Given the description of an element on the screen output the (x, y) to click on. 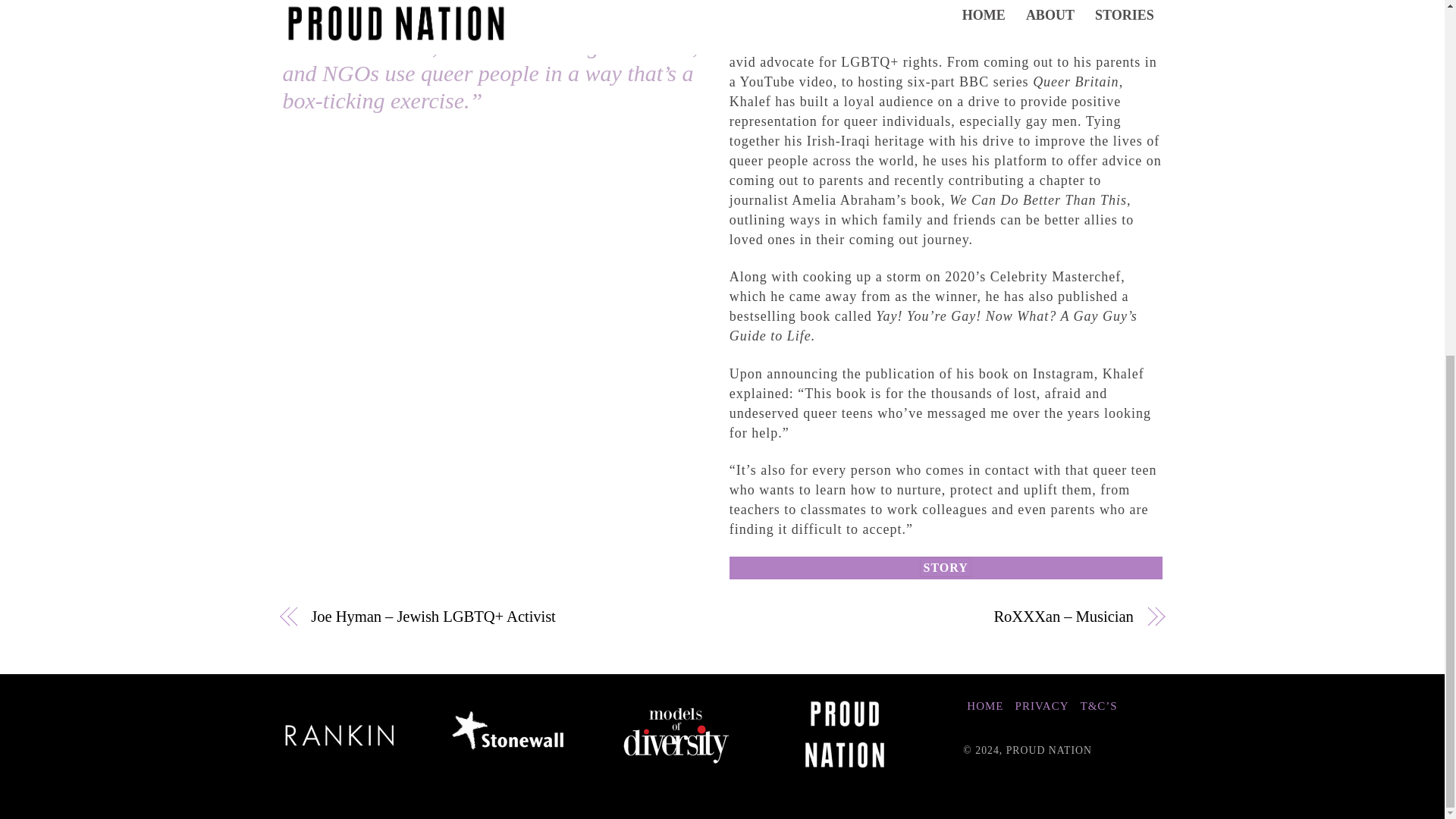
STORY (945, 566)
PRIVACY (1041, 705)
HOME (984, 705)
